Given the description of an element on the screen output the (x, y) to click on. 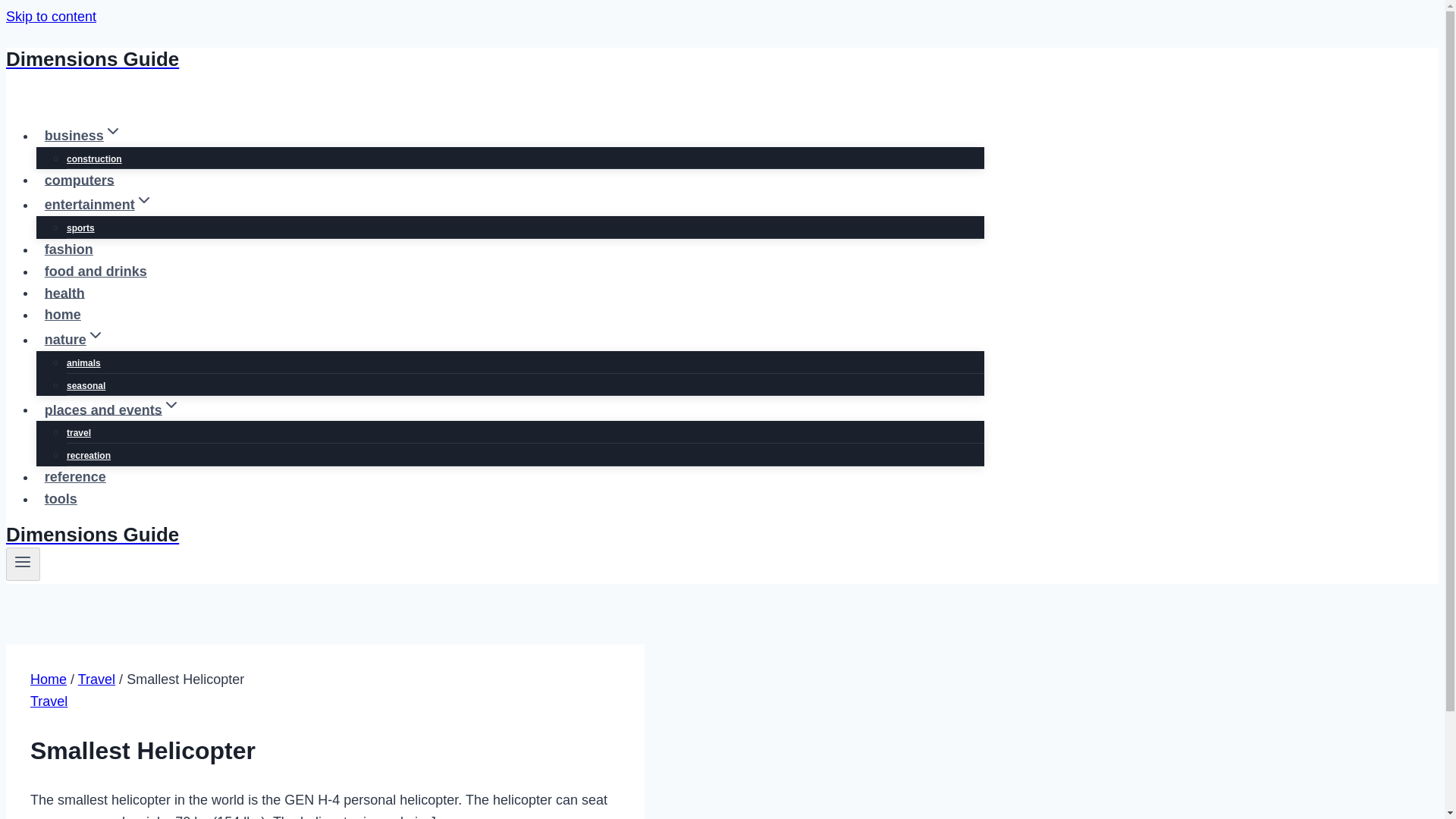
Travel (96, 679)
animals (83, 362)
food and drinks (95, 271)
expand (112, 131)
Dimensions Guide (494, 59)
Skip to content (50, 16)
seasonal (85, 385)
health (64, 293)
computers (79, 180)
expand (143, 199)
